Given the description of an element on the screen output the (x, y) to click on. 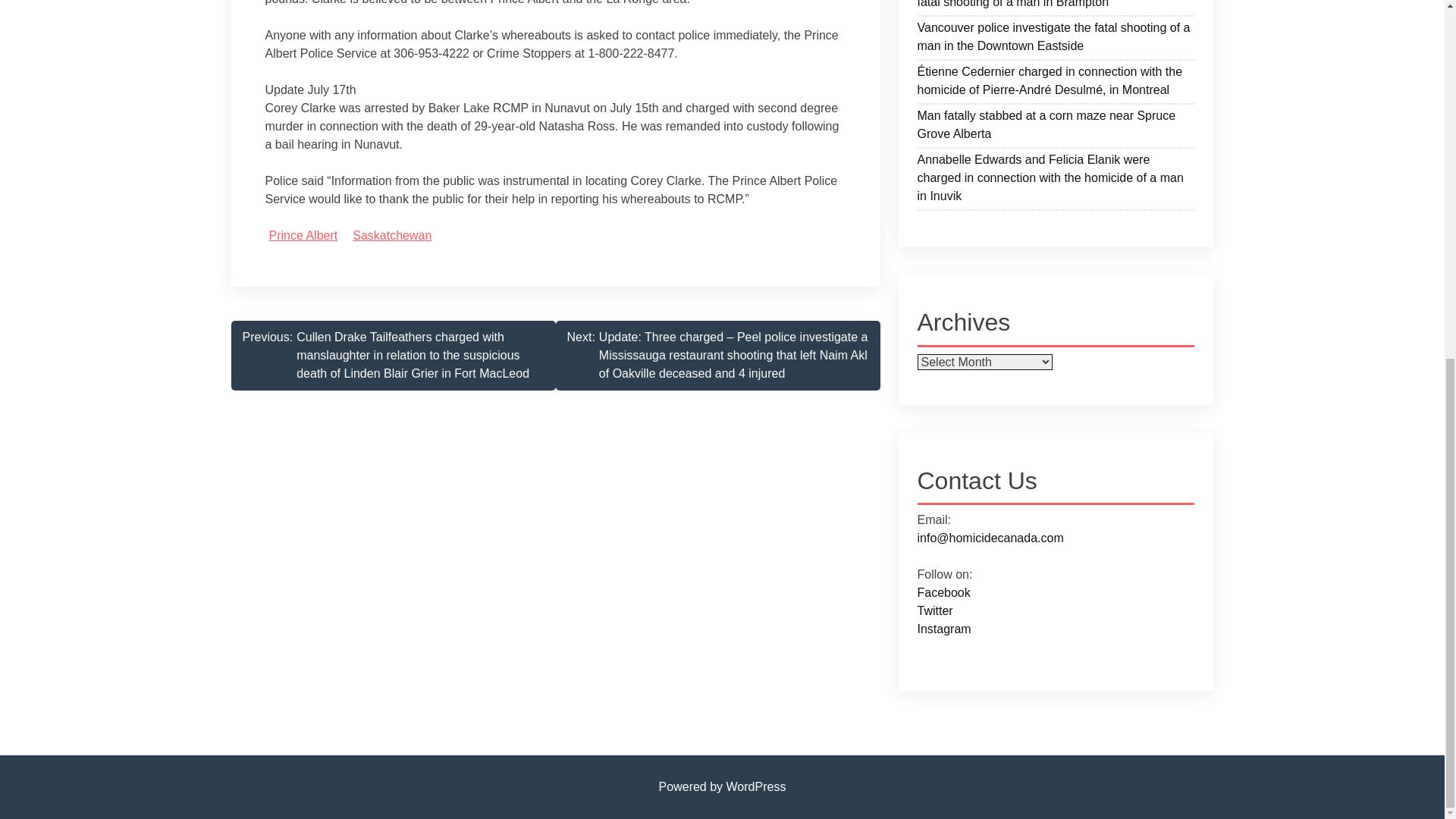
Saskatchewan (391, 235)
Powered by WordPress (722, 786)
Man fatally stabbed at a corn maze near Spruce Grove Alberta (1056, 127)
Prince Albert (302, 235)
Twitter (935, 610)
Instagram (944, 628)
Facebook (944, 592)
